Given the description of an element on the screen output the (x, y) to click on. 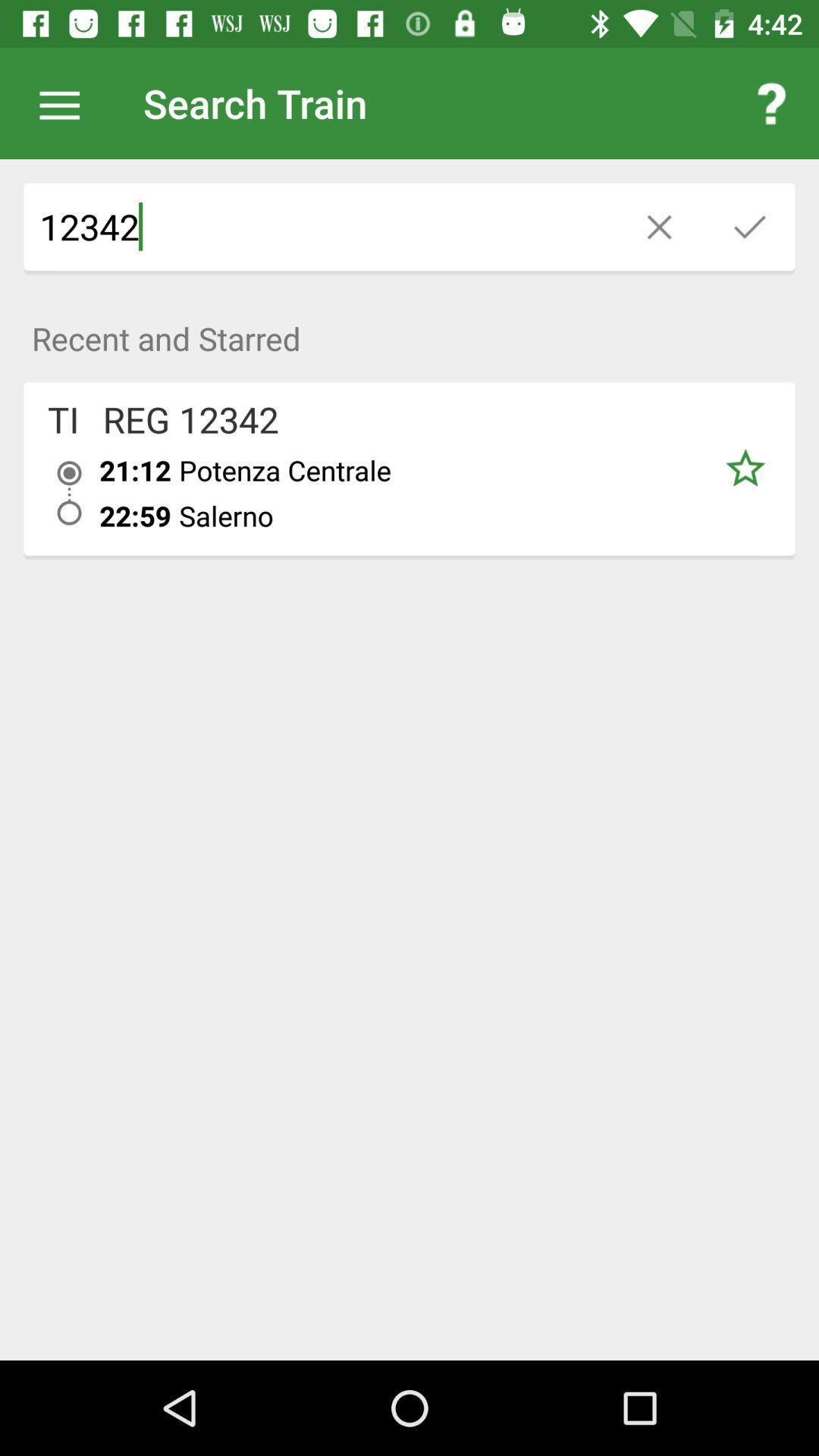
tap icon next to the search train icon (67, 103)
